Given the description of an element on the screen output the (x, y) to click on. 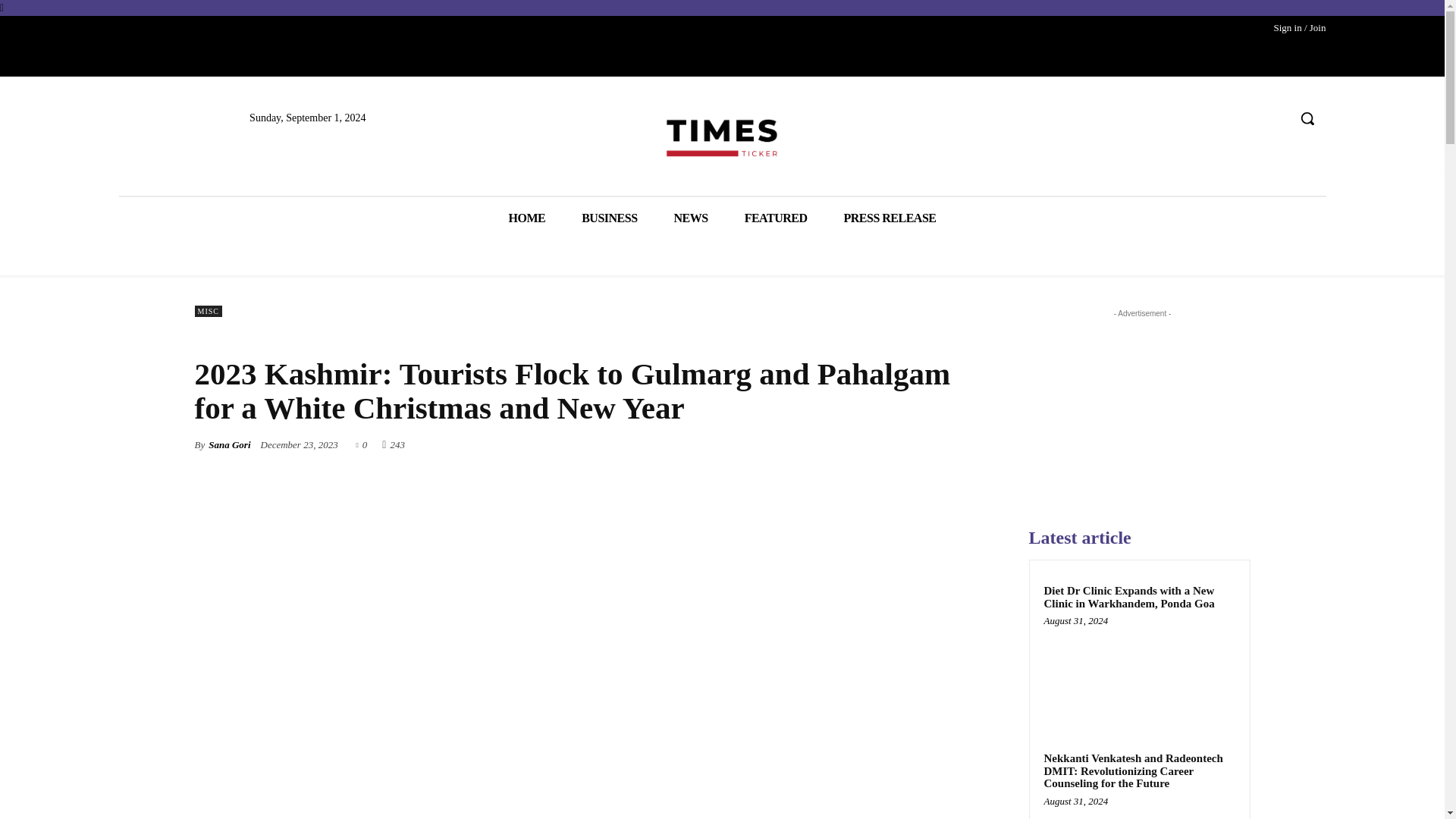
FEATURED (775, 218)
PRESS RELEASE (889, 218)
Sana Gori (229, 444)
BUSINESS (609, 218)
HOME (526, 218)
NEWS (691, 218)
MISC (207, 310)
0 (362, 443)
